Given the description of an element on the screen output the (x, y) to click on. 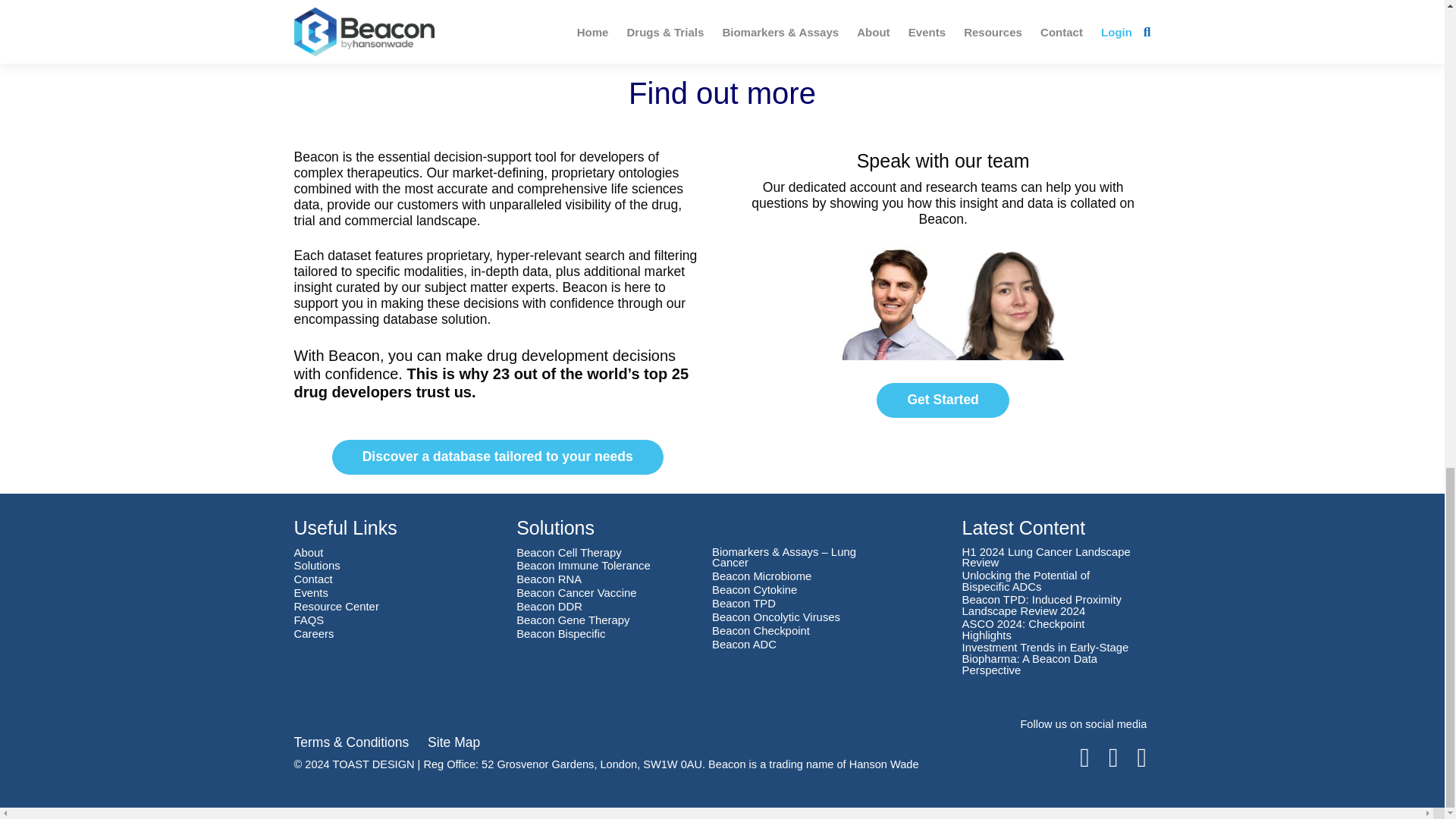
About (308, 552)
Contact (313, 579)
FAQS (309, 620)
Discover a database tailored to your needs (497, 457)
Events (311, 593)
Resource Center (336, 606)
Solutions (317, 565)
Get Started (942, 400)
